Given the description of an element on the screen output the (x, y) to click on. 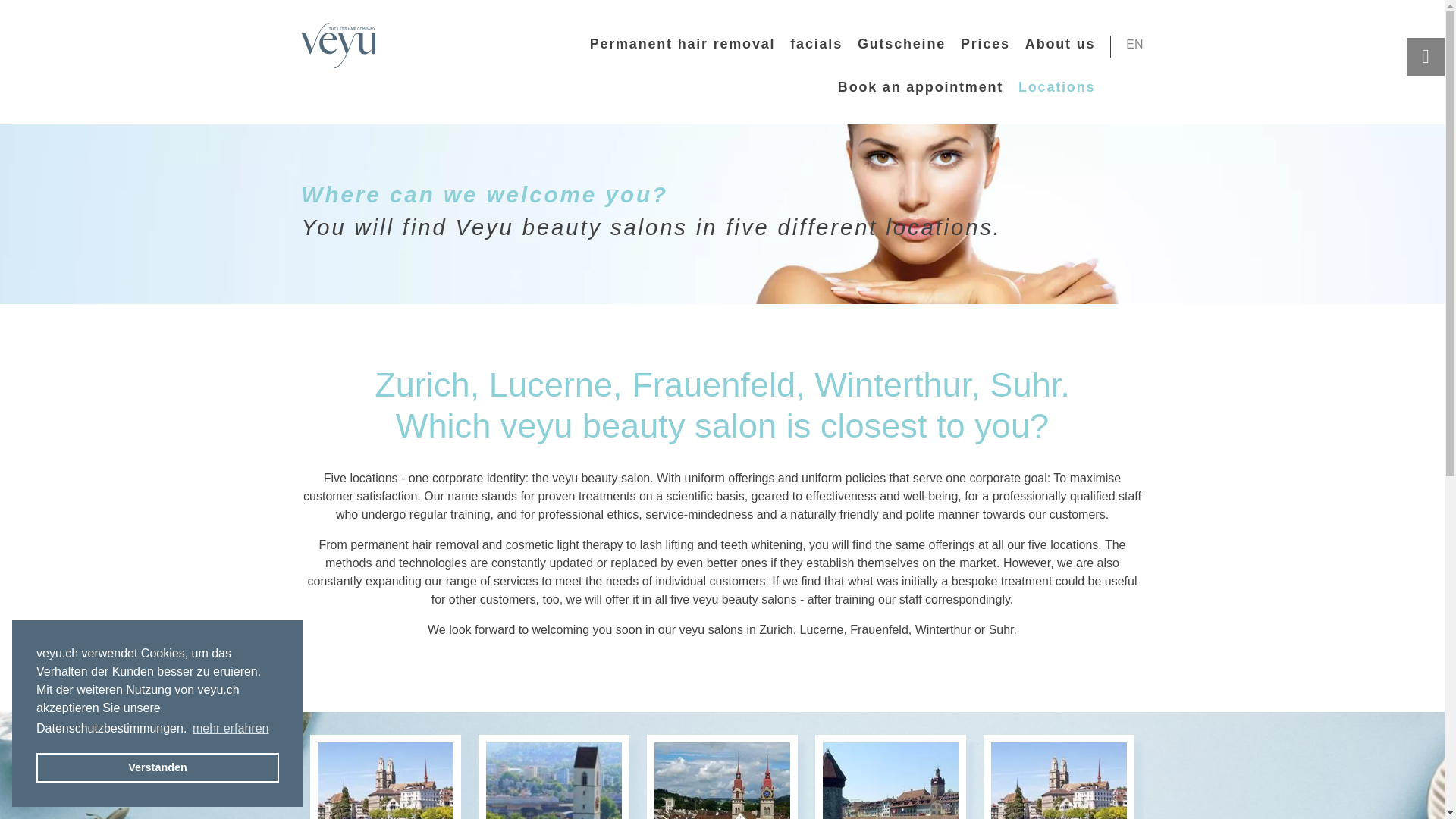
Permanent hair removal (682, 43)
Jetzt Gutschein kaufen (900, 43)
facials (816, 43)
Gutscheine (900, 43)
mehr erfahren (230, 728)
About us (1059, 43)
Verstanden (157, 767)
Prices (985, 43)
Book an appointment (920, 87)
EN (1133, 45)
Locations (1055, 87)
